Given the description of an element on the screen output the (x, y) to click on. 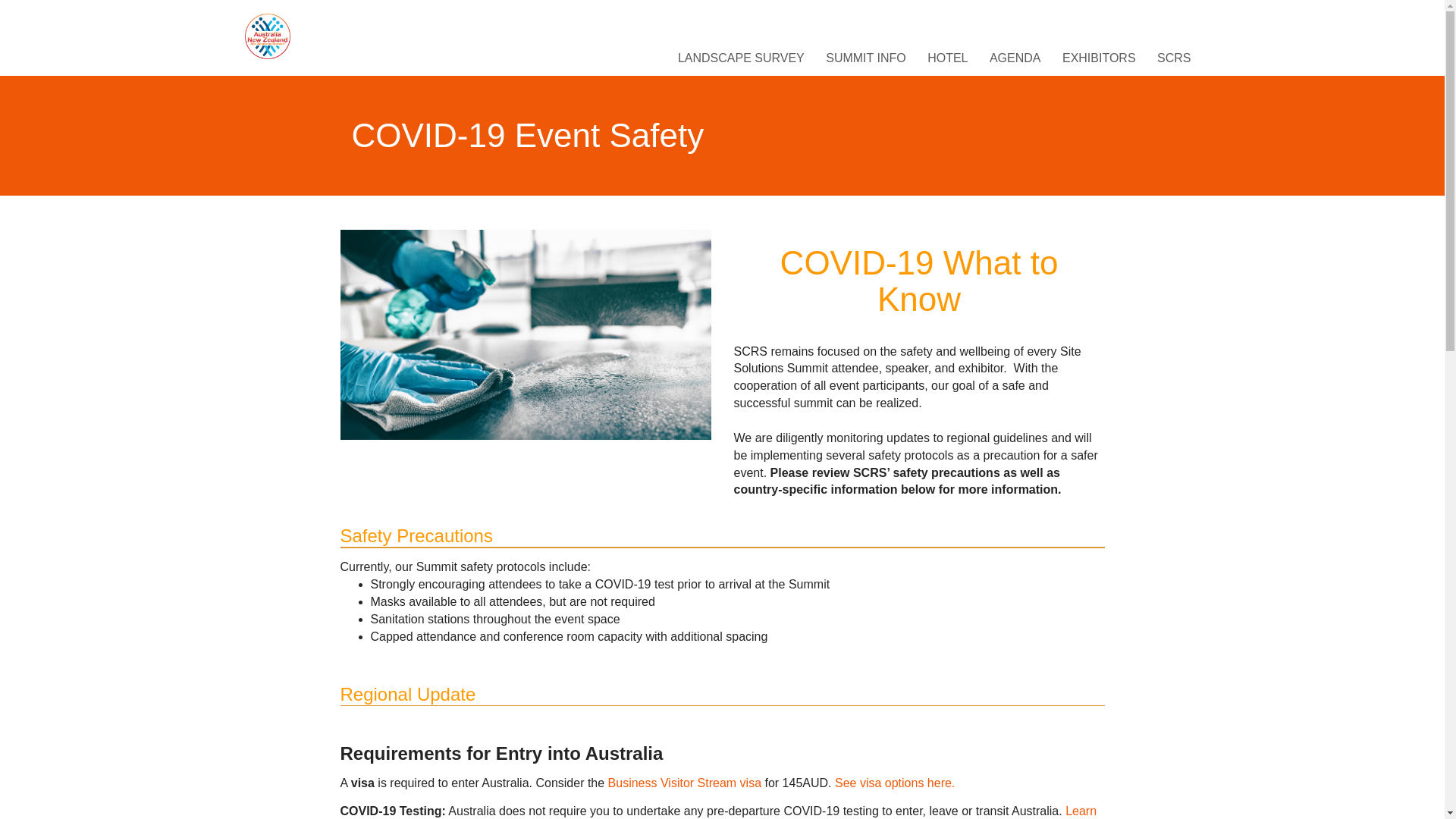
SCRS (1173, 58)
See visa options here. (894, 782)
EXHIBITORS (1098, 58)
SUMMIT INFO (865, 58)
AGENDA (1014, 58)
Business Visitor Stream visa (684, 782)
HOTEL (947, 58)
LANDSCAPE SURVEY (740, 58)
